Given the description of an element on the screen output the (x, y) to click on. 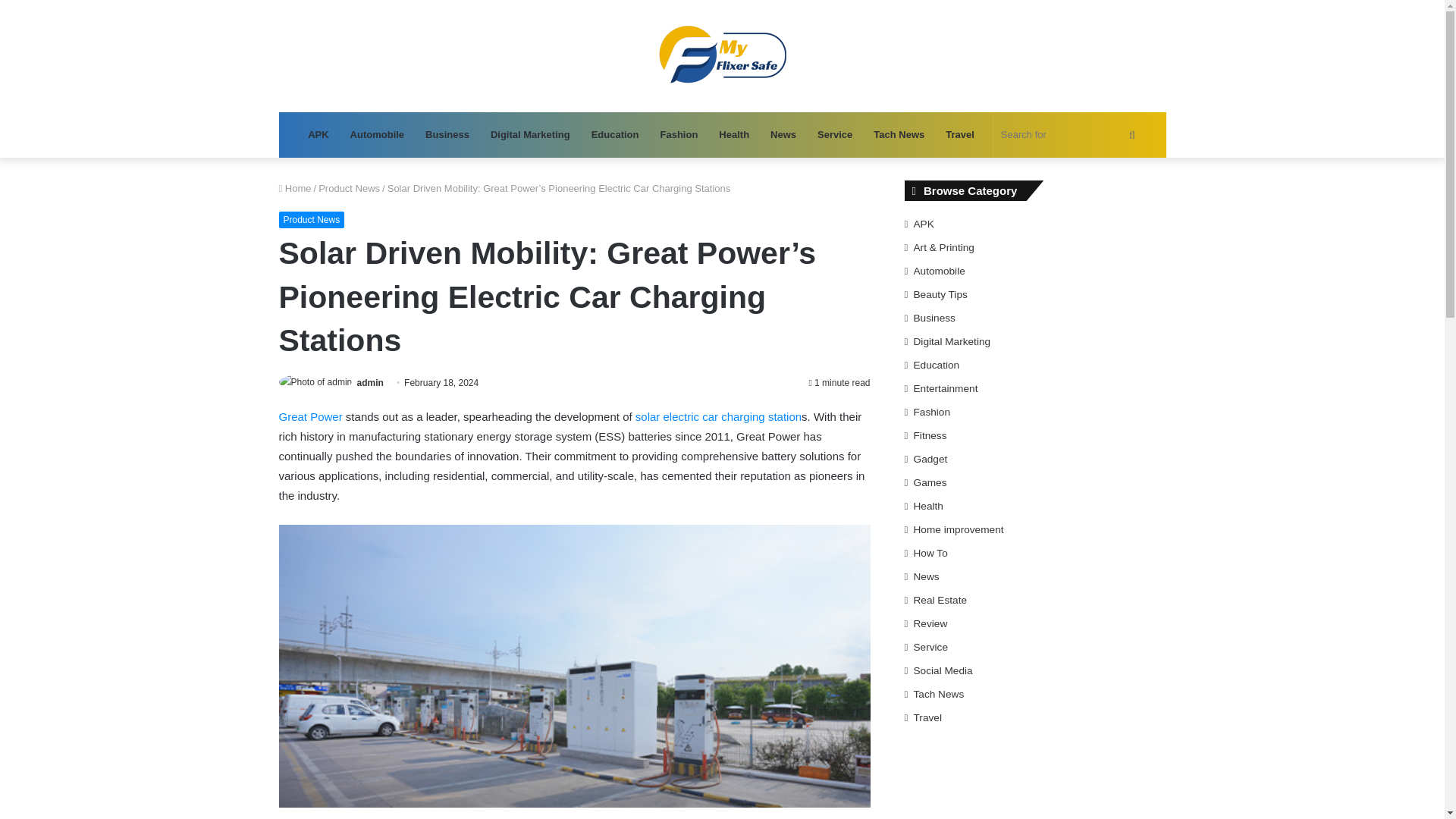
Education (614, 135)
News (783, 135)
Great Power (310, 416)
APK (318, 135)
Business (447, 135)
Service (834, 135)
Home (295, 188)
solar electric car charging station (718, 416)
Travel (959, 135)
Product News (349, 188)
